Given the description of an element on the screen output the (x, y) to click on. 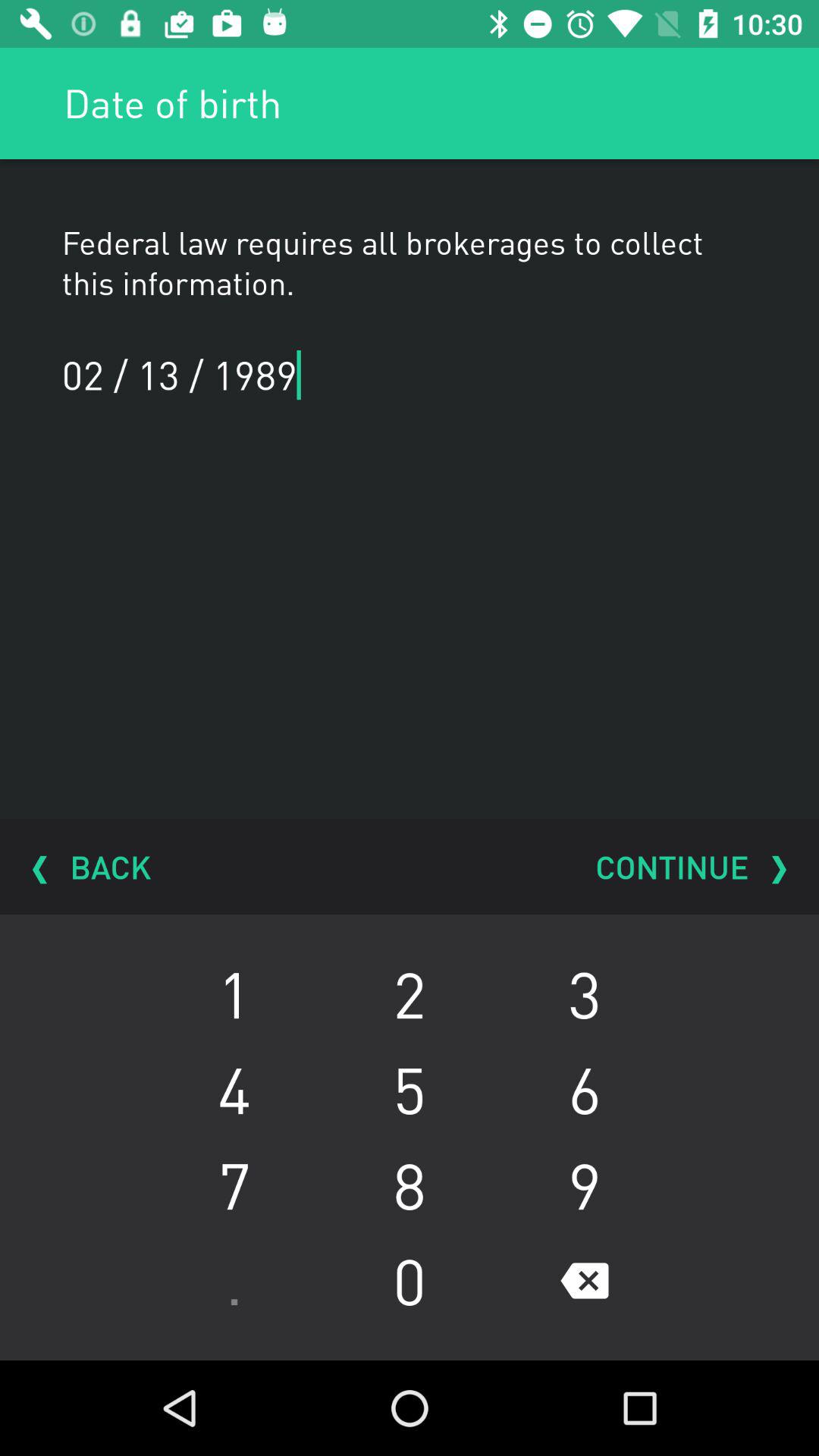
select 7 icon (233, 1185)
